Given the description of an element on the screen output the (x, y) to click on. 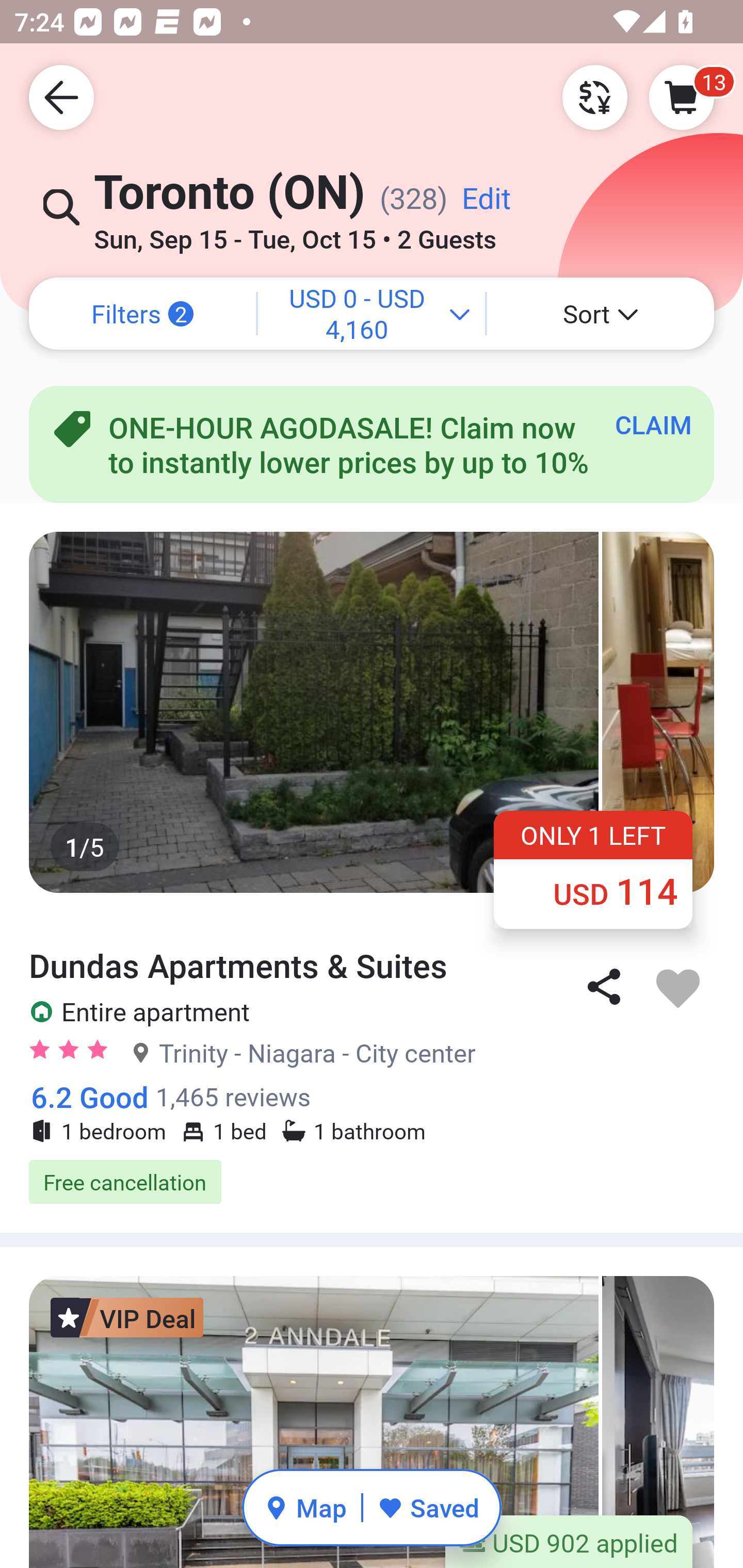
Filters 2 (141, 313)
⁦USD 0⁩ - ⁦USD 4,160⁩ (371, 313)
Sort (600, 313)
CLAIM (653, 424)
1/5 (371, 711)
ONLY 1 LEFT ‪USD 114 (593, 869)
Free cancellation (371, 1182)
VIP Deal (126, 1317)
Map (305, 1507)
Saved (428, 1507)
USD 902 applied (568, 1541)
